Given the description of an element on the screen output the (x, y) to click on. 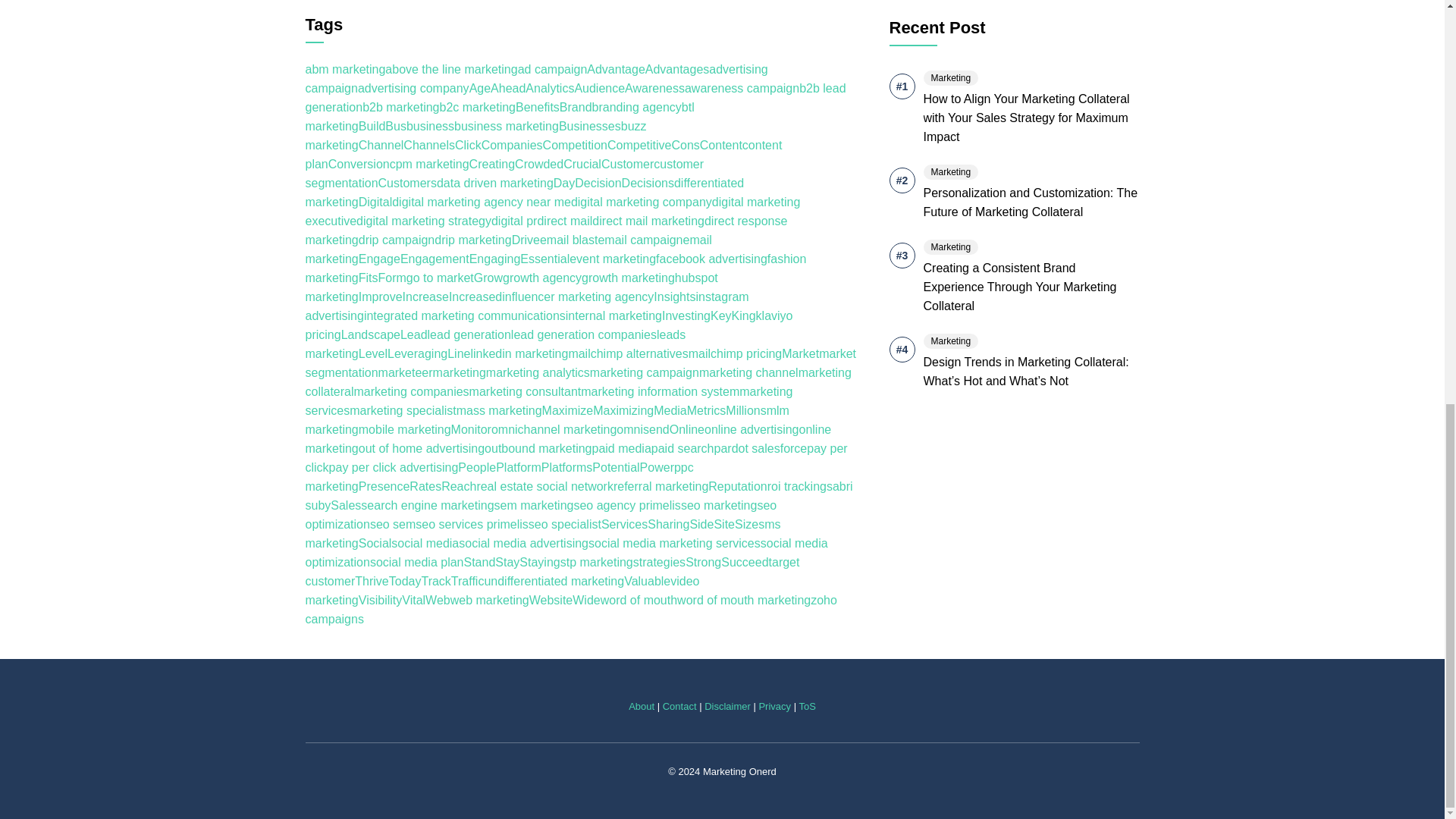
b2b lead generation (574, 97)
above the line marketing (450, 69)
Audience (598, 88)
advertising campaign (535, 79)
Advantages (677, 69)
ad campaign (553, 69)
b2b marketing (400, 106)
Advantage (615, 69)
Awareness (654, 88)
abm marketing (344, 69)
awareness campaign (741, 88)
Analytics (549, 88)
Age (479, 88)
advertising company (413, 88)
